Given the description of an element on the screen output the (x, y) to click on. 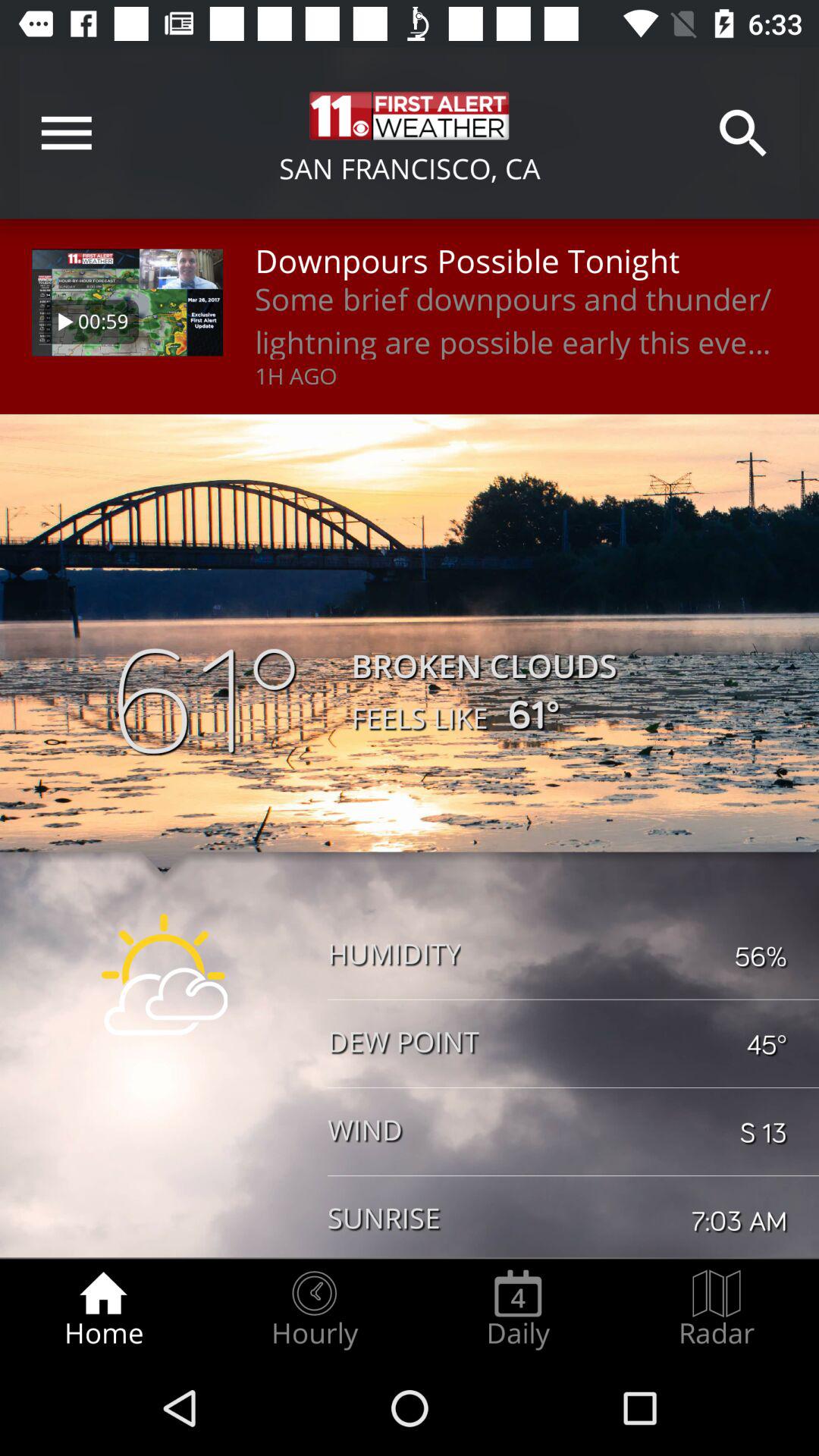
click the icon to the right of hourly item (518, 1309)
